Given the description of an element on the screen output the (x, y) to click on. 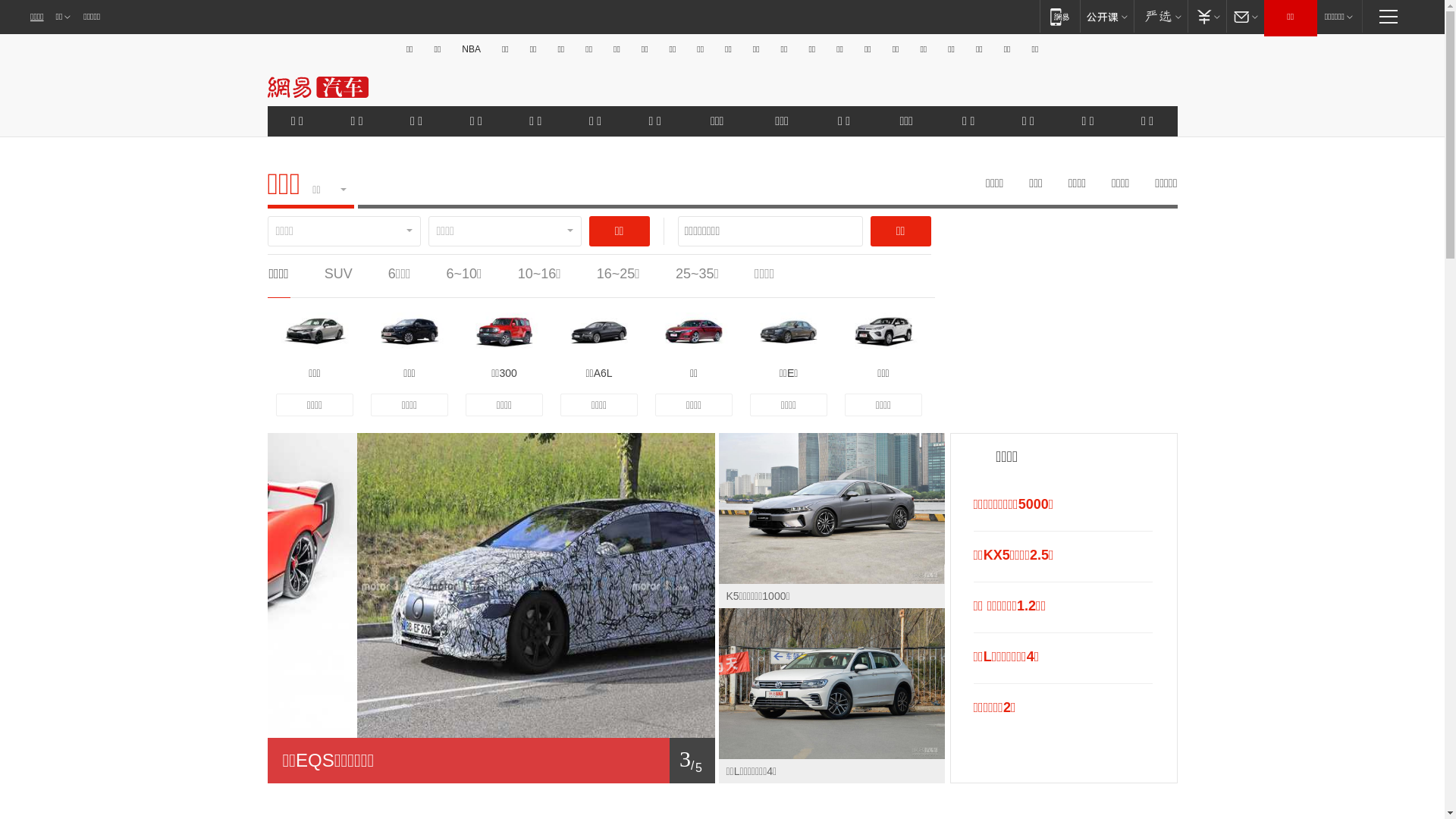
NBA Element type: text (471, 48)
1/ 5 Element type: text (490, 760)
SUV Element type: text (338, 273)
